Given the description of an element on the screen output the (x, y) to click on. 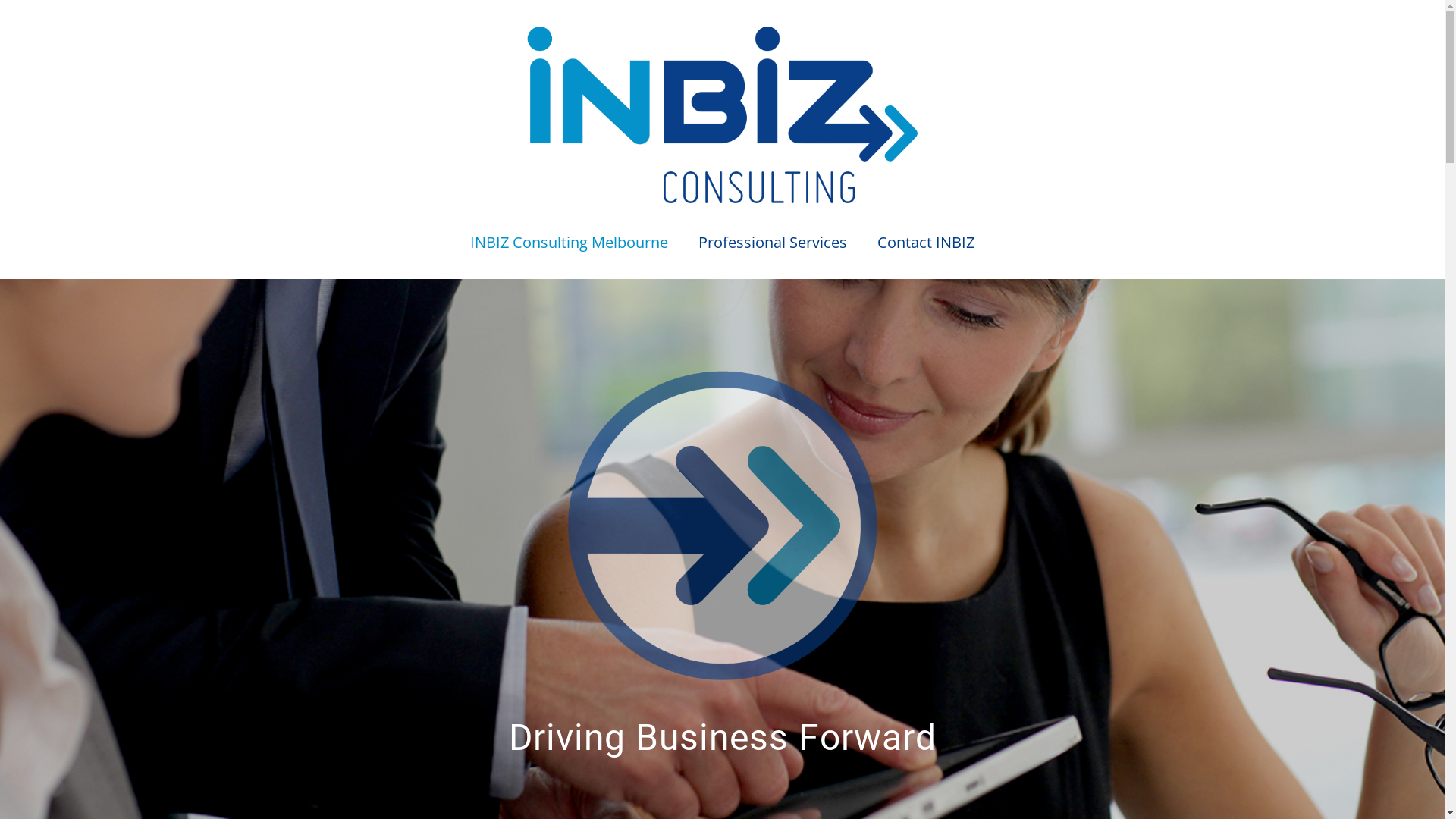
INBIZ Consulting Melbourne Element type: text (569, 242)
Professional Services Element type: text (772, 242)
Contact INBIZ Element type: text (925, 242)
